Given the description of an element on the screen output the (x, y) to click on. 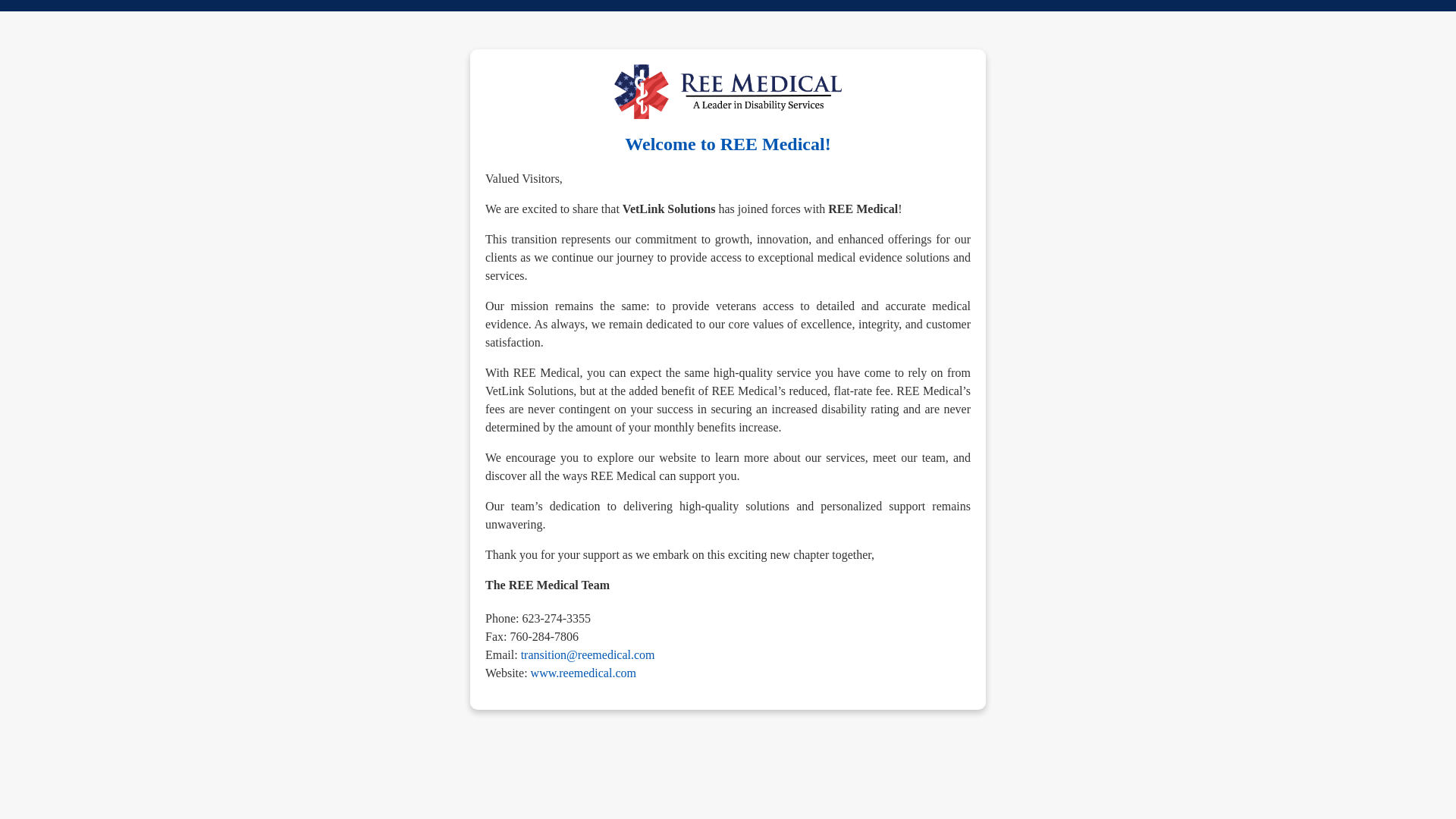
www.reemedical.com (583, 672)
